Given the description of an element on the screen output the (x, y) to click on. 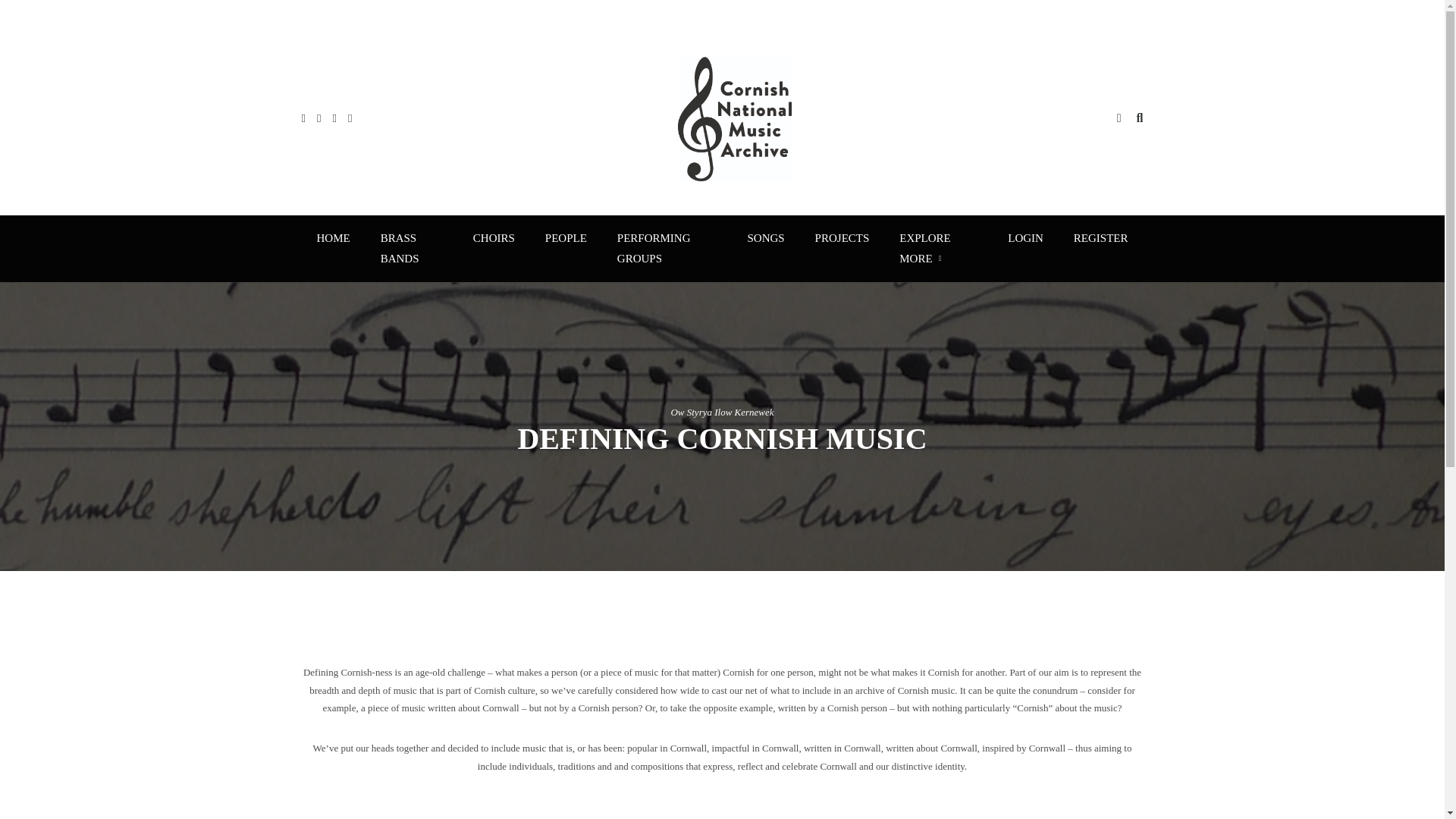
SONGS (765, 238)
LOGIN (1025, 238)
HOME (333, 238)
Cornish National Music Archive (735, 117)
BRASS BANDS (411, 248)
PERFORMING GROUPS (667, 248)
PROJECTS (842, 238)
REGISTER (1100, 238)
EXPLORE MORE (937, 248)
CHOIRS (493, 238)
